Given the description of an element on the screen output the (x, y) to click on. 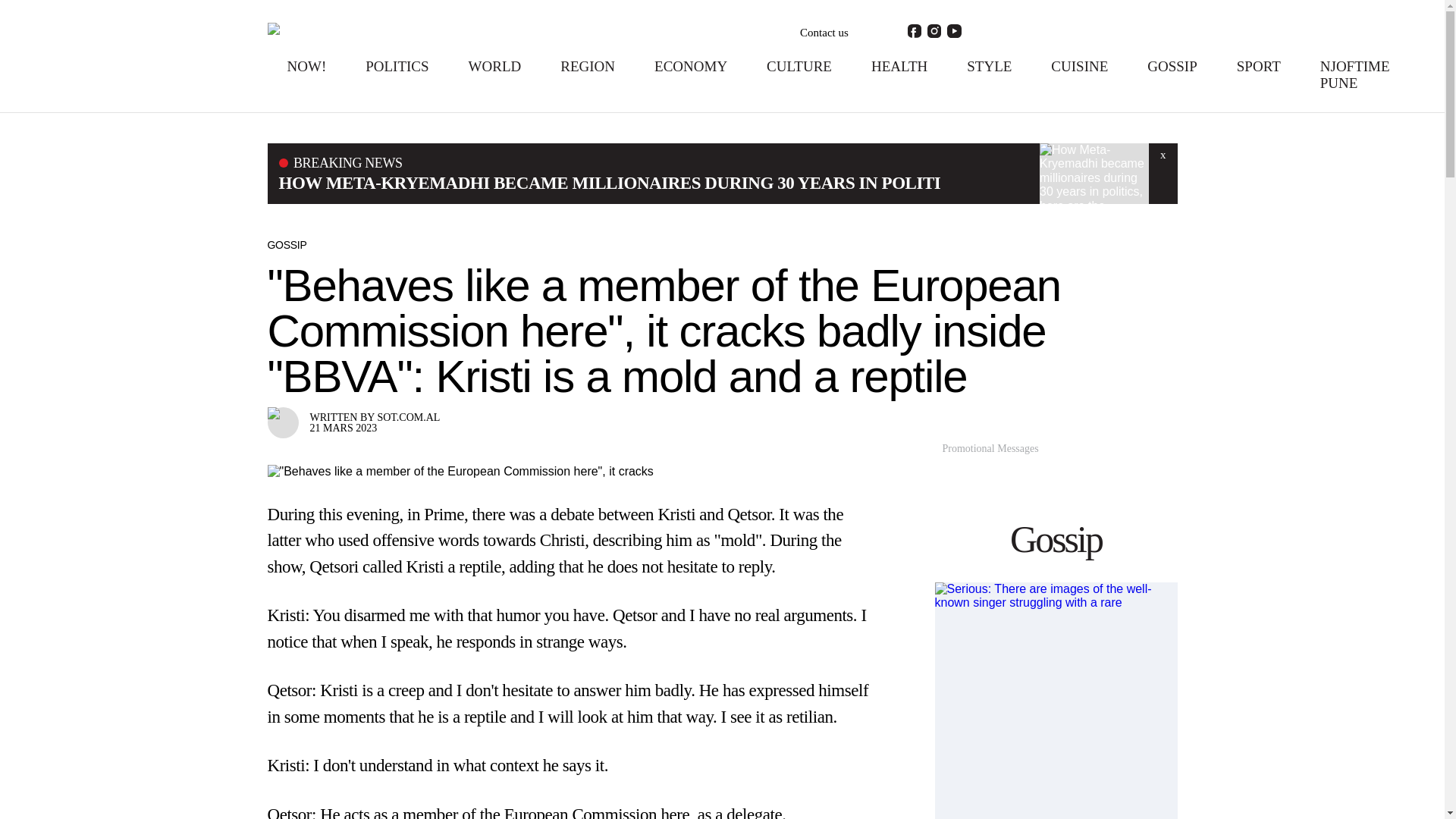
REGION (587, 66)
HEALTH (898, 66)
CUISINE (1079, 66)
NOW! (306, 66)
NJOFTIME PUNE (1355, 74)
STYLE (988, 66)
GOSSIP (285, 244)
GOSSIP (1171, 66)
ECONOMY (689, 66)
Contact us (823, 32)
